Given the description of an element on the screen output the (x, y) to click on. 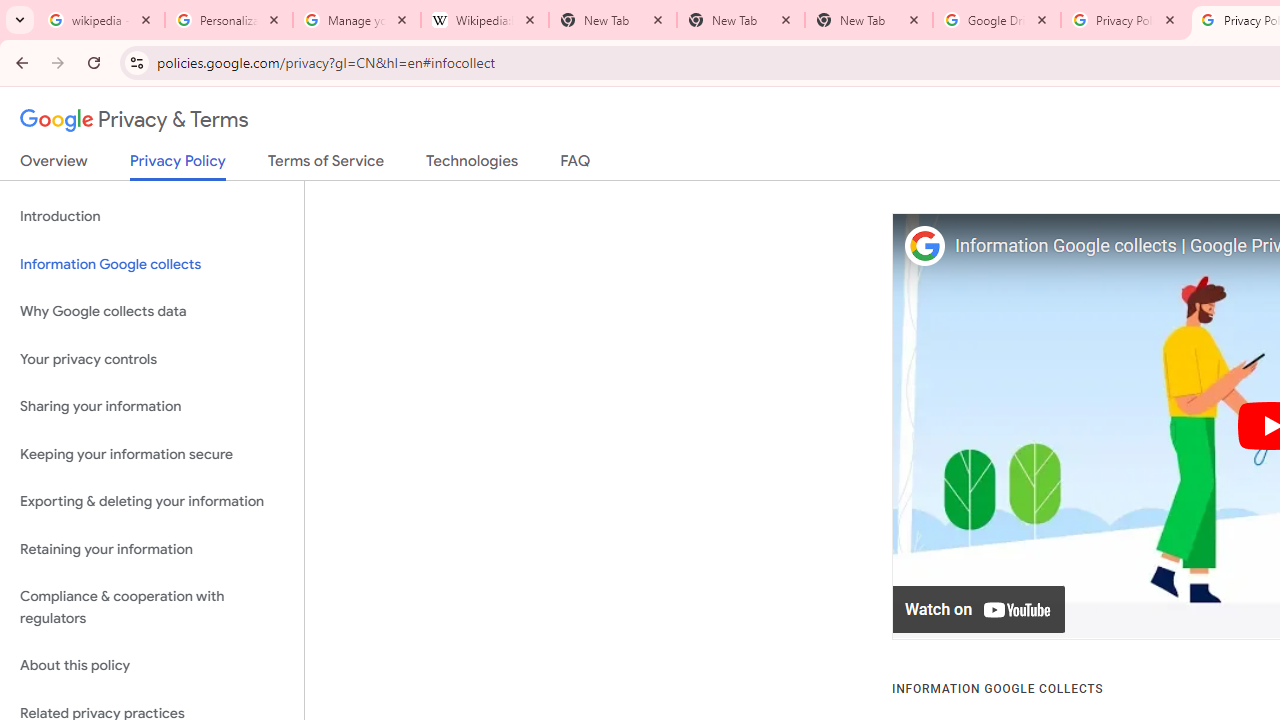
Personalization & Google Search results - Google Search Help (229, 20)
Wikipedia:Edit requests - Wikipedia (485, 20)
Retaining your information (152, 548)
New Tab (869, 20)
Manage your Location History - Google Search Help (357, 20)
Photo image of Google (924, 246)
New Tab (741, 20)
Exporting & deleting your information (152, 502)
